Given the description of an element on the screen output the (x, y) to click on. 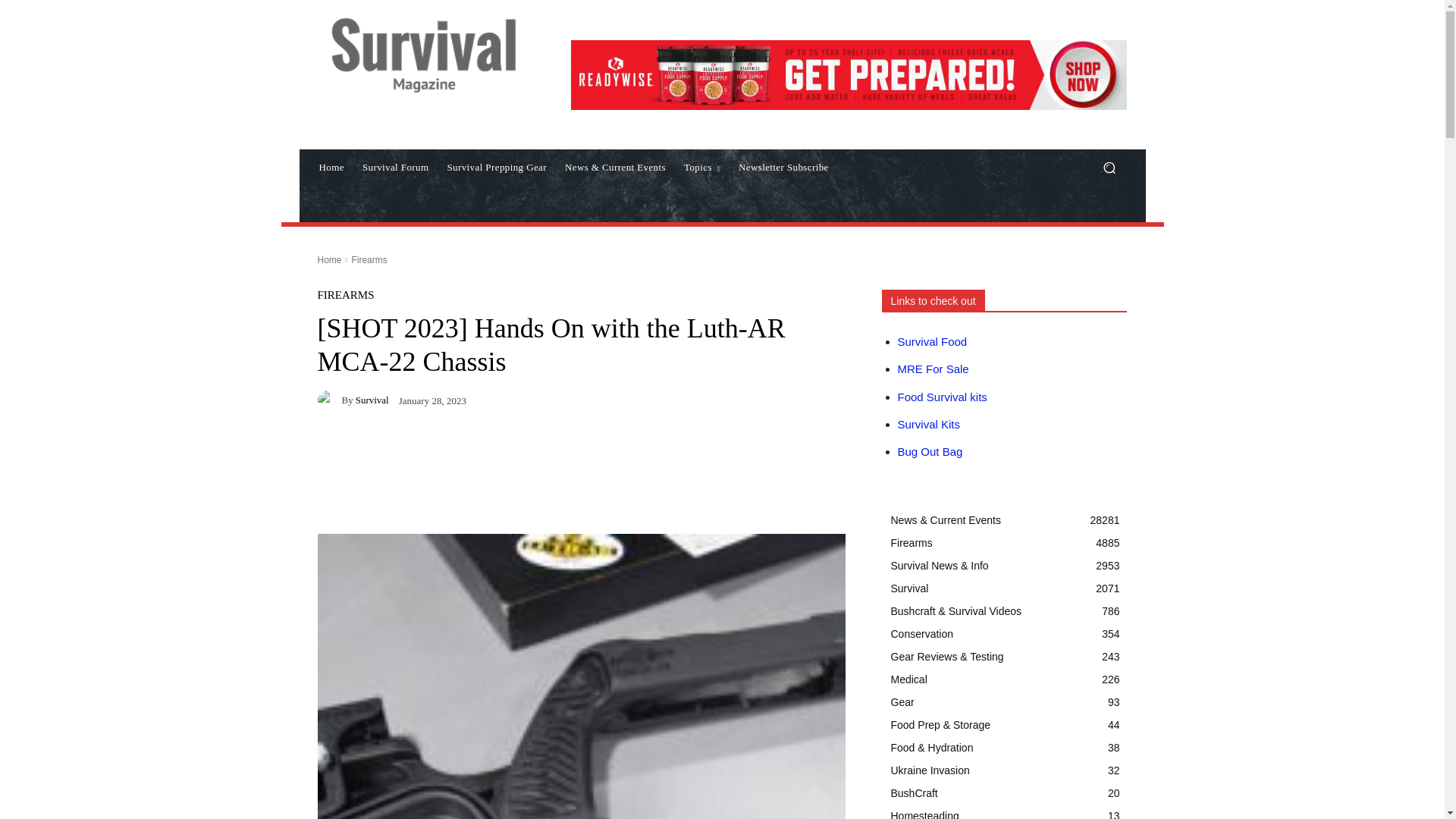
survival (328, 400)
Survival Forum  (395, 167)
View all posts in Firearms (368, 259)
